Given the description of an element on the screen output the (x, y) to click on. 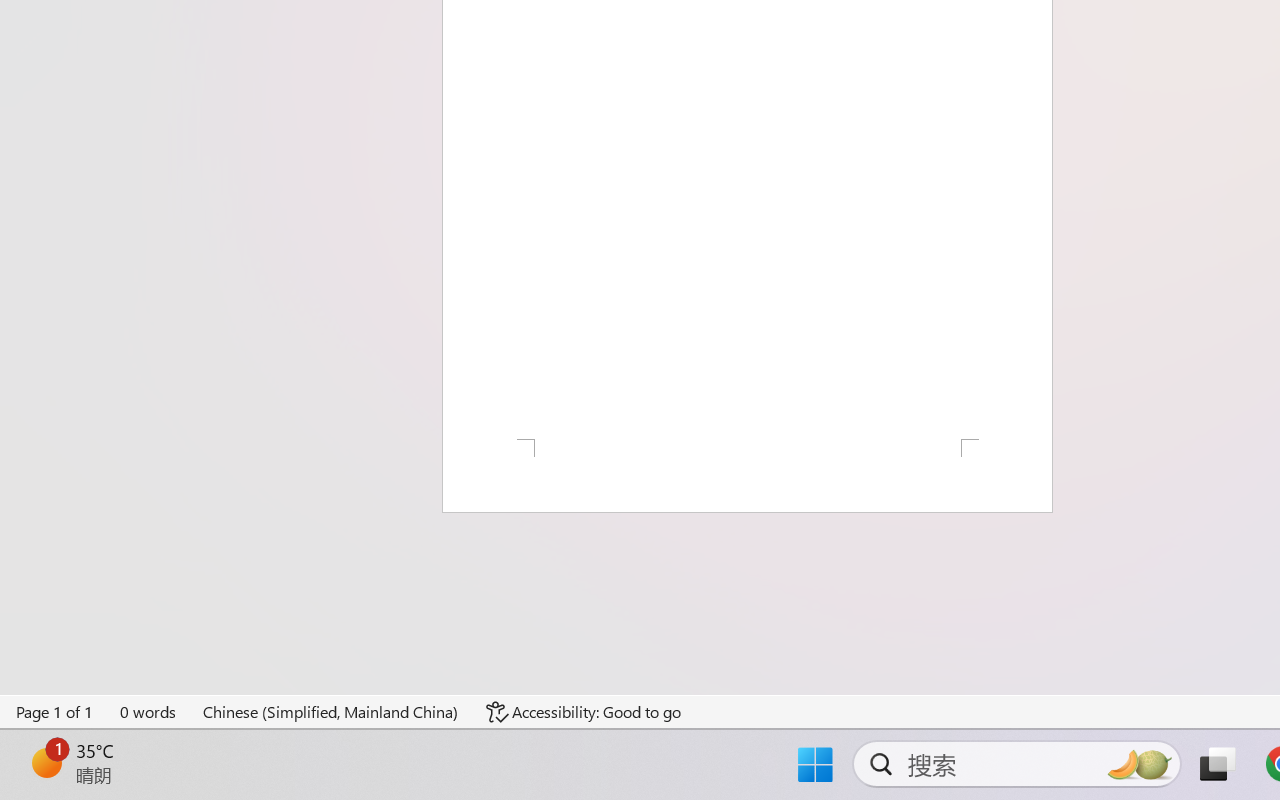
Language Chinese (Simplified, Mainland China) (331, 712)
